Given the description of an element on the screen output the (x, y) to click on. 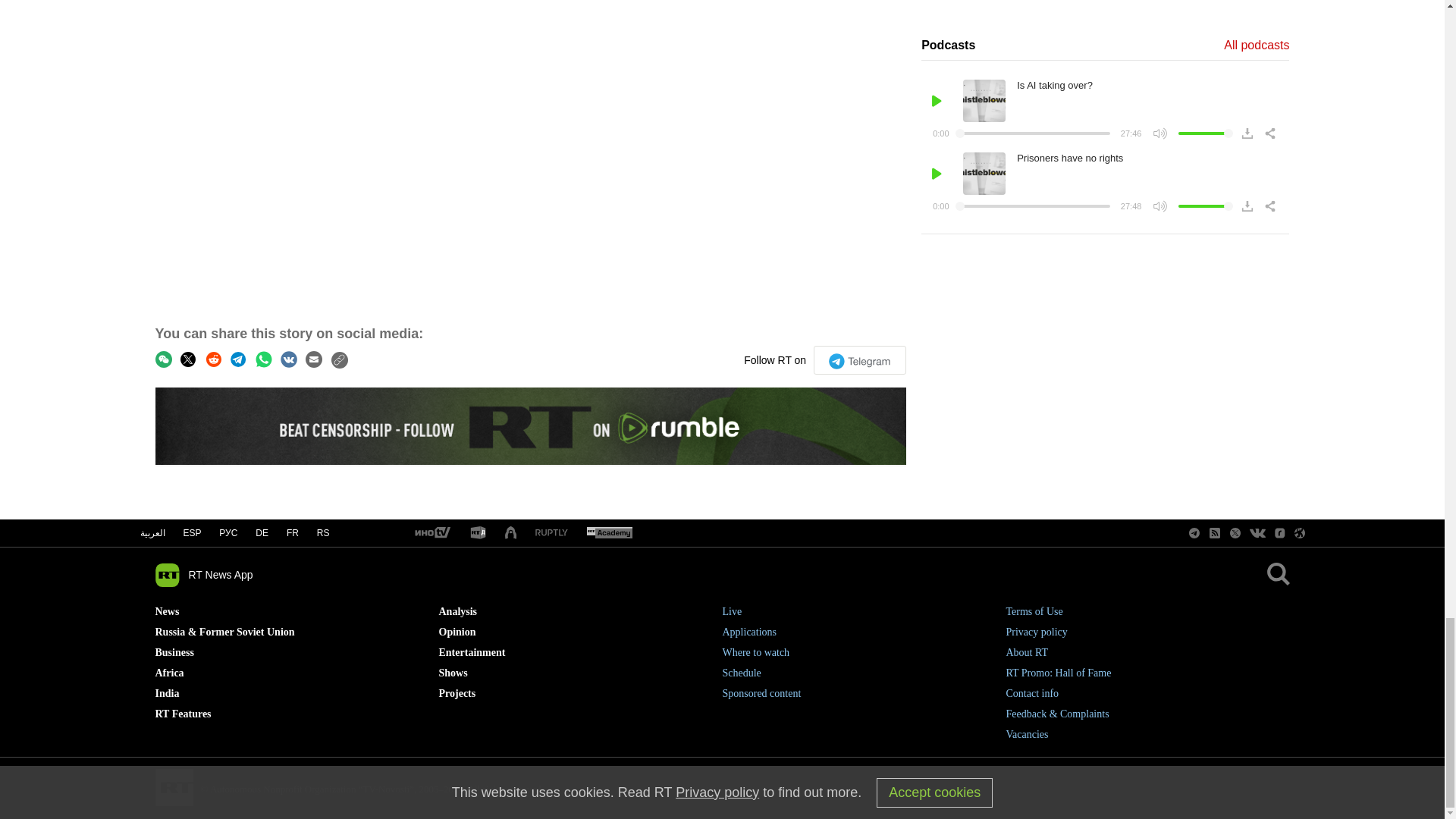
RT  (478, 533)
RT  (431, 533)
RT  (551, 533)
RT  (608, 533)
